Given the description of an element on the screen output the (x, y) to click on. 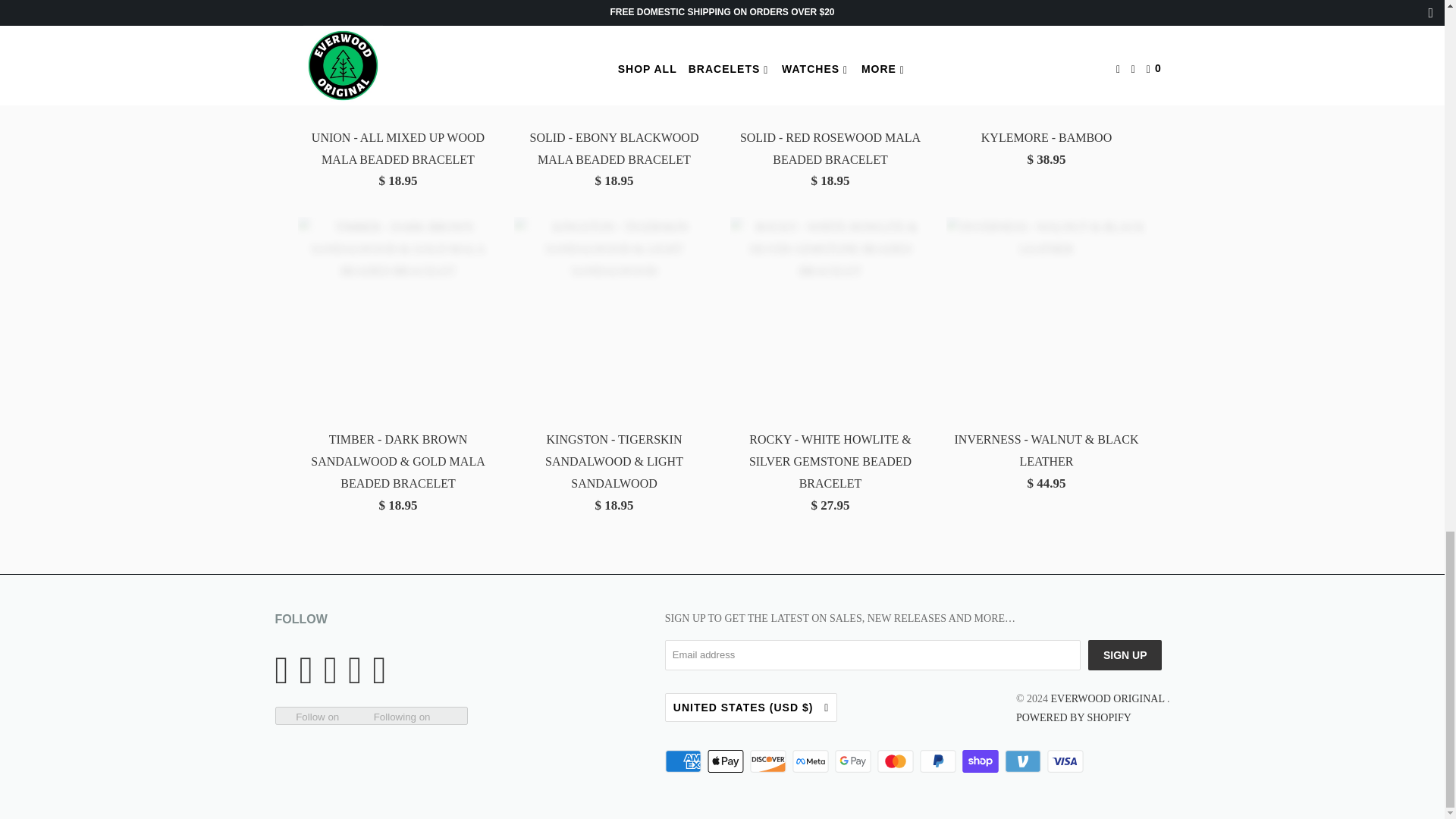
AMERICAN EXPRESS (684, 761)
PAYPAL (939, 761)
APPLE PAY (726, 761)
VENMO (1023, 761)
SHOP PAY (981, 761)
META PAY (811, 761)
Sign Up (1124, 654)
MASTERCARD (897, 761)
VISA (1066, 761)
GOOGLE PAY (854, 761)
